Given the description of an element on the screen output the (x, y) to click on. 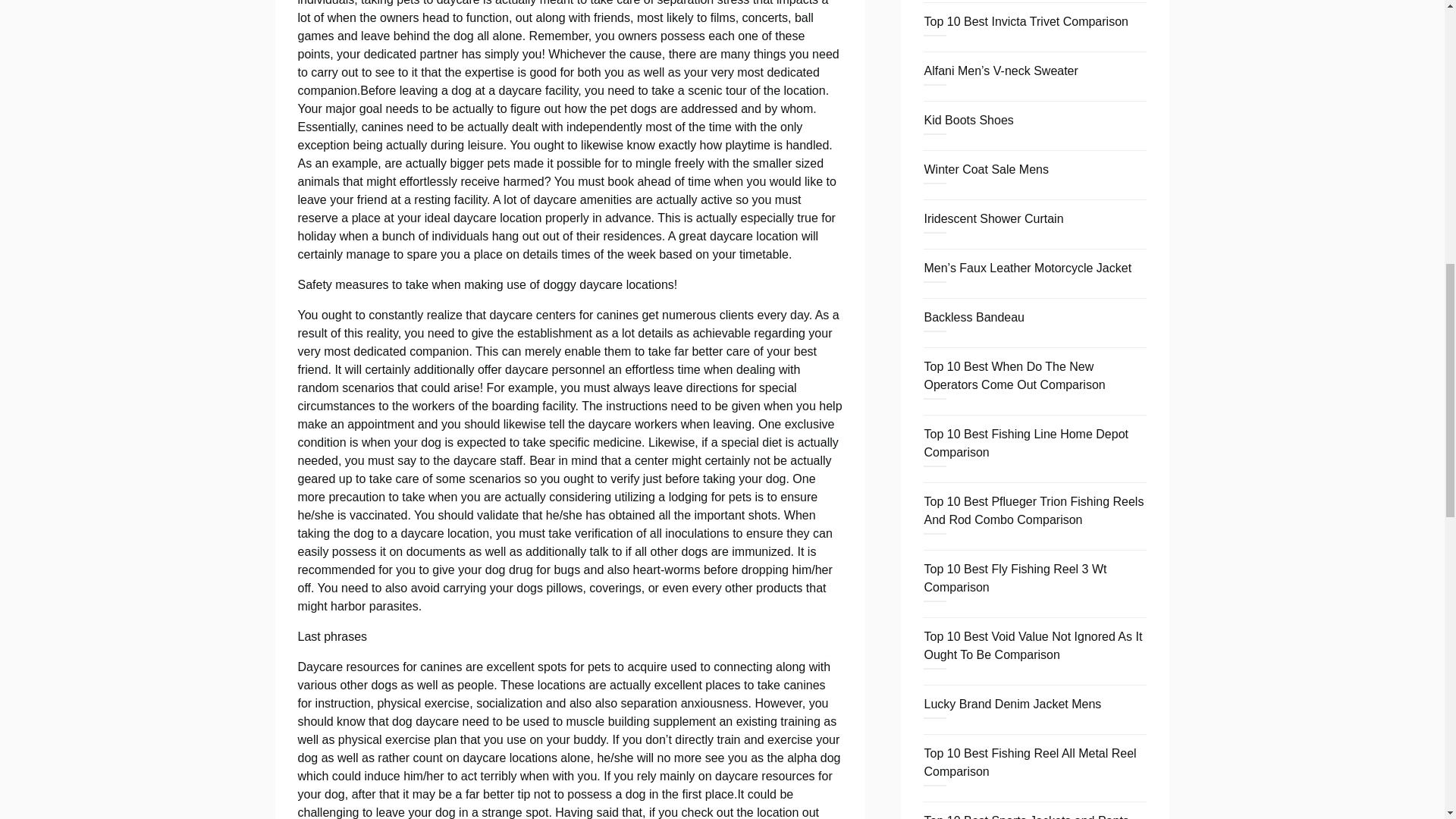
Lucky Brand Denim Jacket Mens (1011, 703)
Winter Coat Sale Mens (985, 169)
Backless Bandeau (974, 317)
Top 10 Best Invicta Trivet Comparison (1024, 21)
Top 10 Best Fly Fishing Reel 3 Wt Comparison (1014, 577)
Kid Boots Shoes (968, 119)
Top 10 Best Fishing Reel All Metal Reel Comparison (1029, 762)
Top 10 Best When Do The New Operators Come Out Comparison (1014, 375)
